Given the description of an element on the screen output the (x, y) to click on. 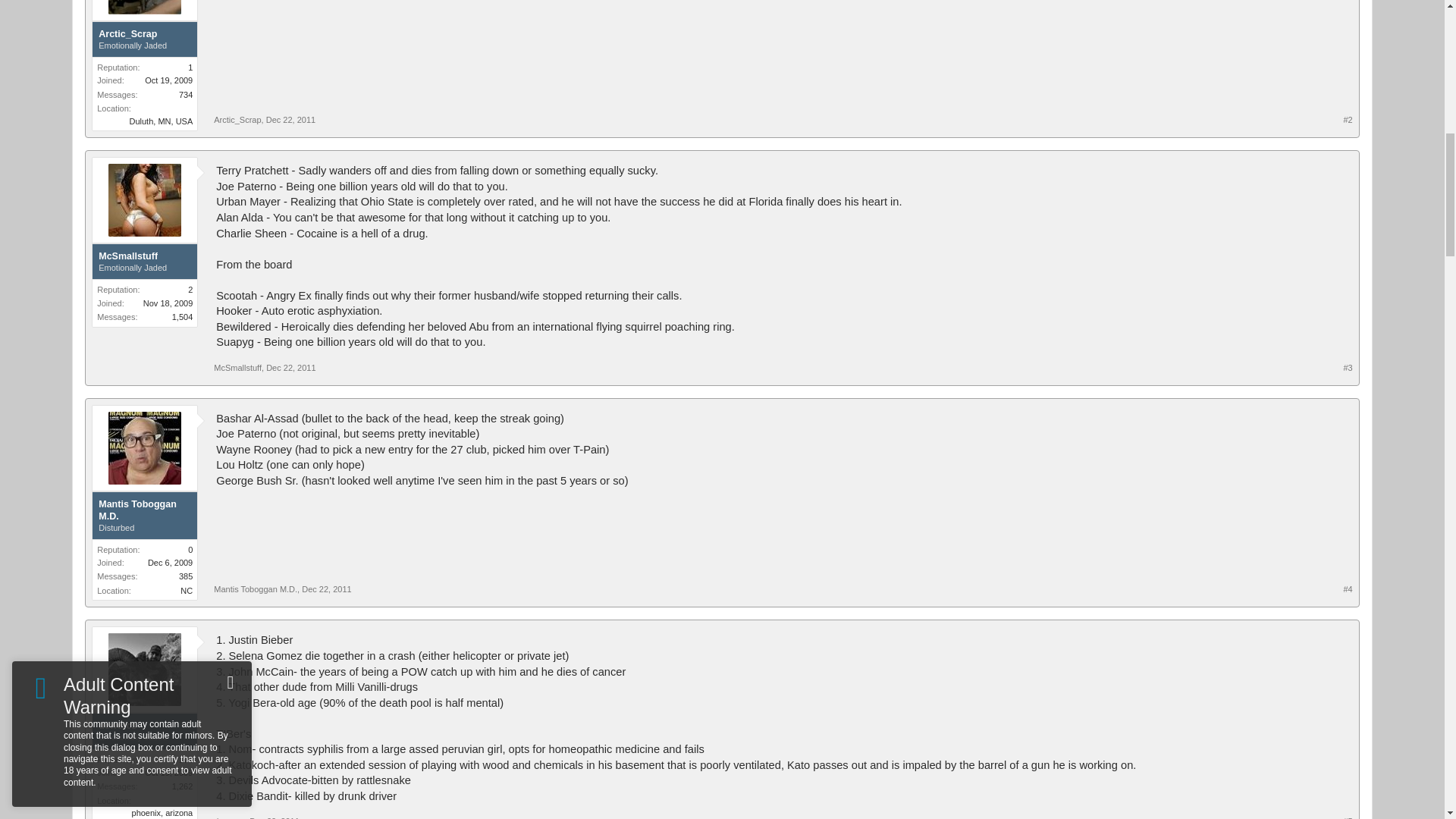
Permalink (290, 119)
Permalink (290, 367)
Permalink (325, 588)
